Given the description of an element on the screen output the (x, y) to click on. 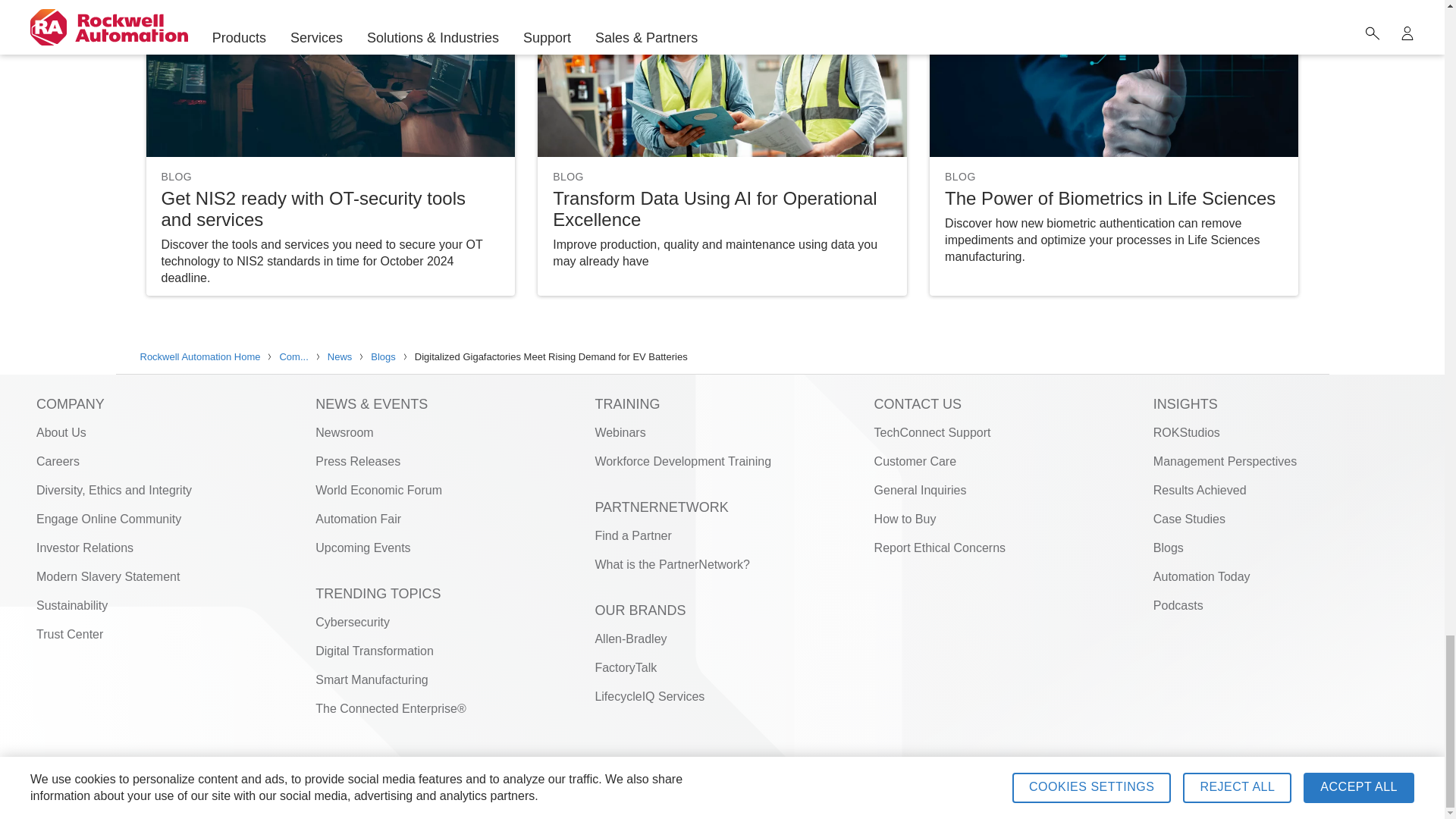
Rockwell Automation Home (1319, 799)
